Given the description of an element on the screen output the (x, y) to click on. 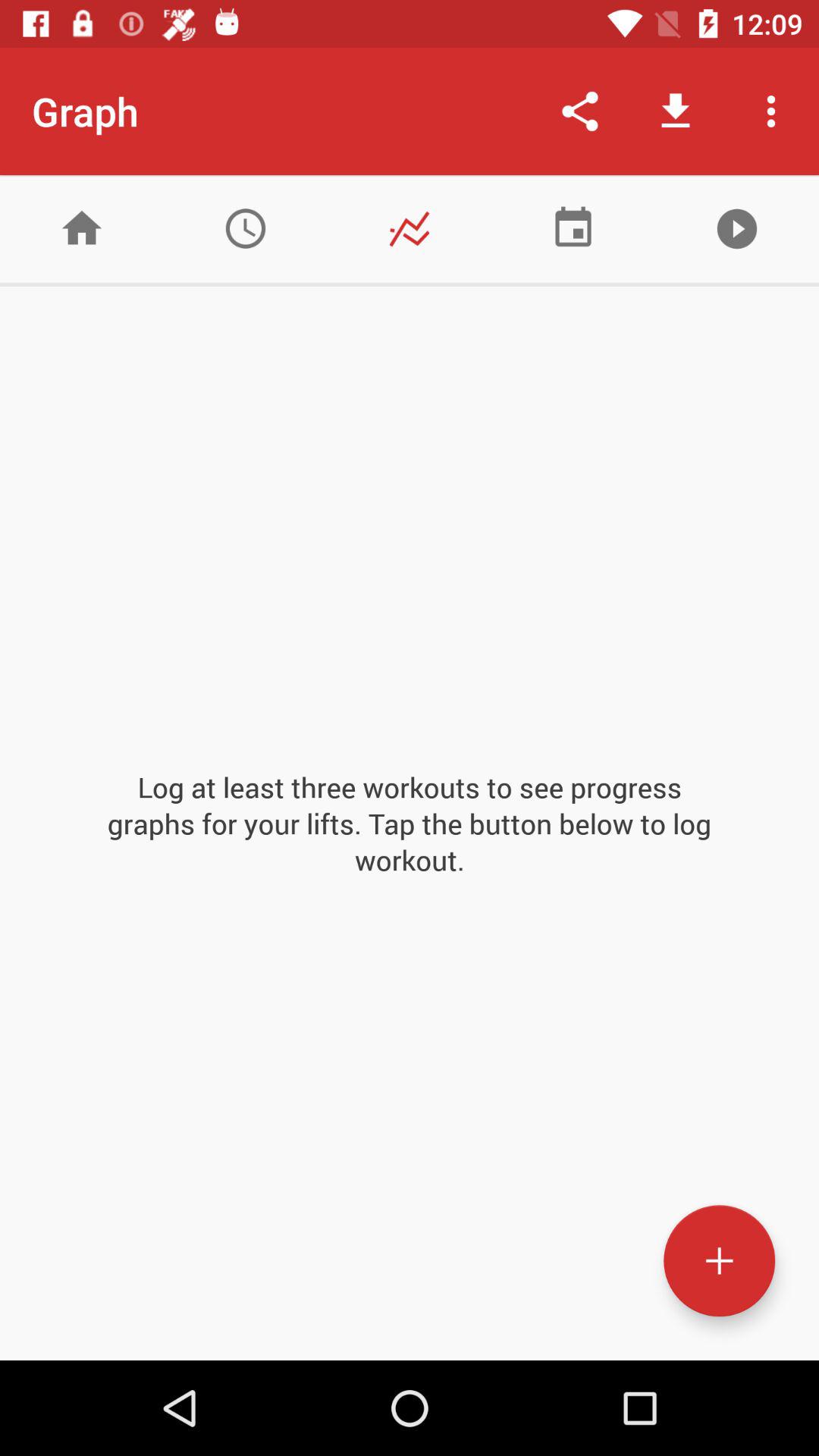
view graph (409, 228)
